Given the description of an element on the screen output the (x, y) to click on. 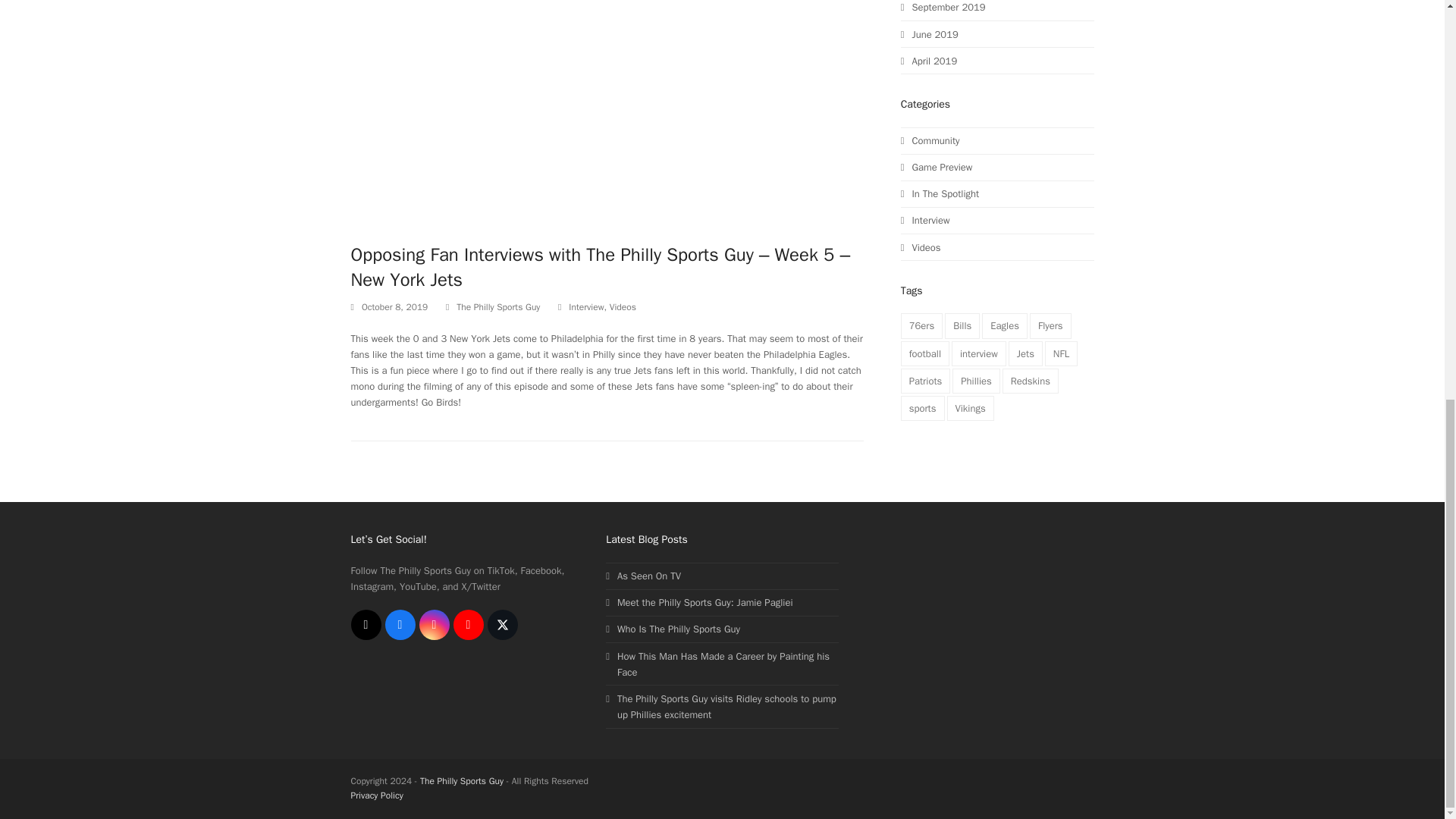
Instagram (433, 624)
Interview (586, 306)
Posts by The Philly Sports Guy (498, 306)
Tiktok (365, 624)
X Twitter (501, 624)
The Philly Sports Guy (498, 306)
Facebook (399, 624)
Videos (623, 306)
YouTube (467, 624)
